Given the description of an element on the screen output the (x, y) to click on. 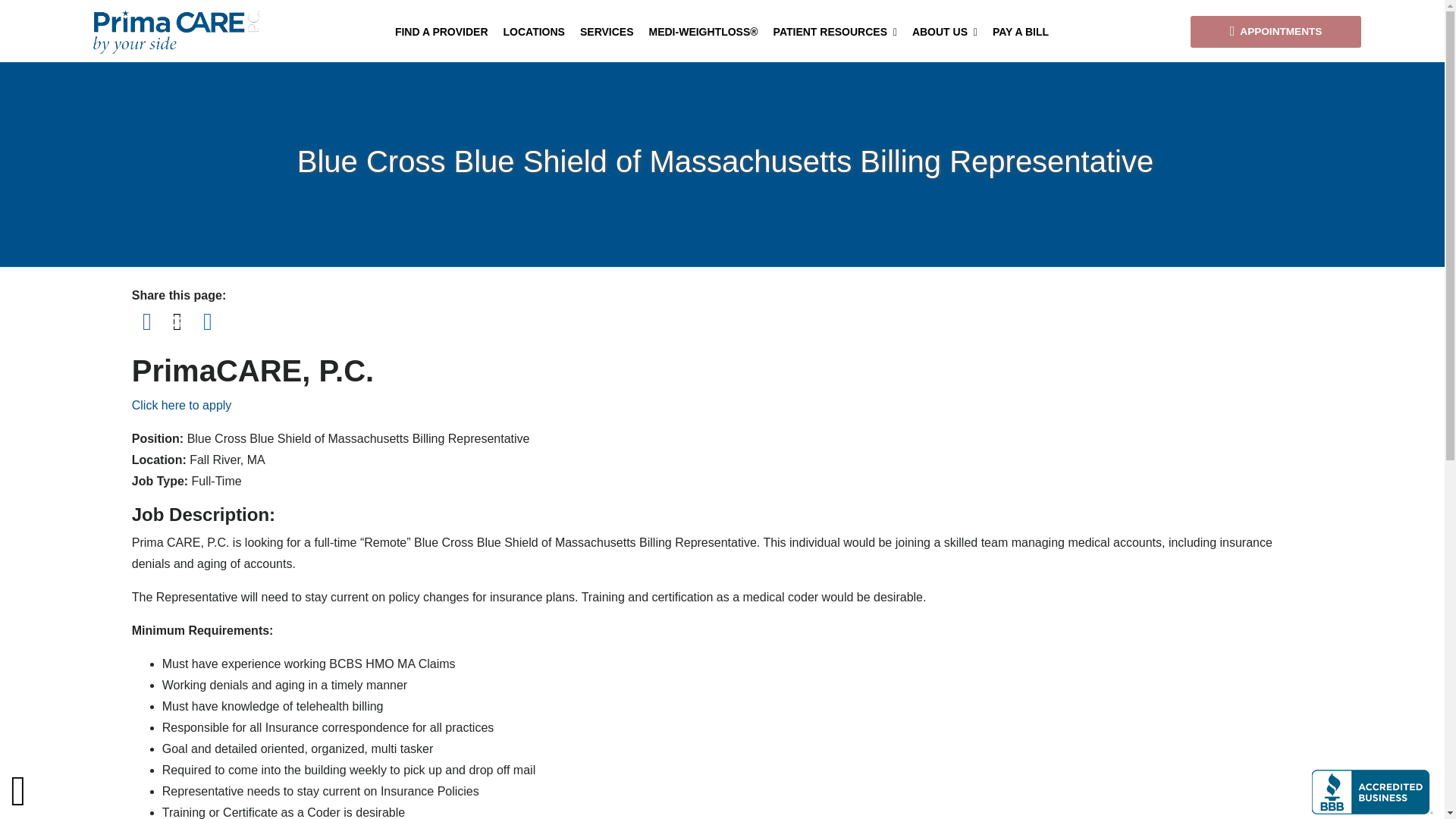
PATIENT RESOURCES   (834, 31)
SERVICES (607, 31)
FIND A PROVIDER (441, 31)
LOCATIONS (534, 31)
